Given the description of an element on the screen output the (x, y) to click on. 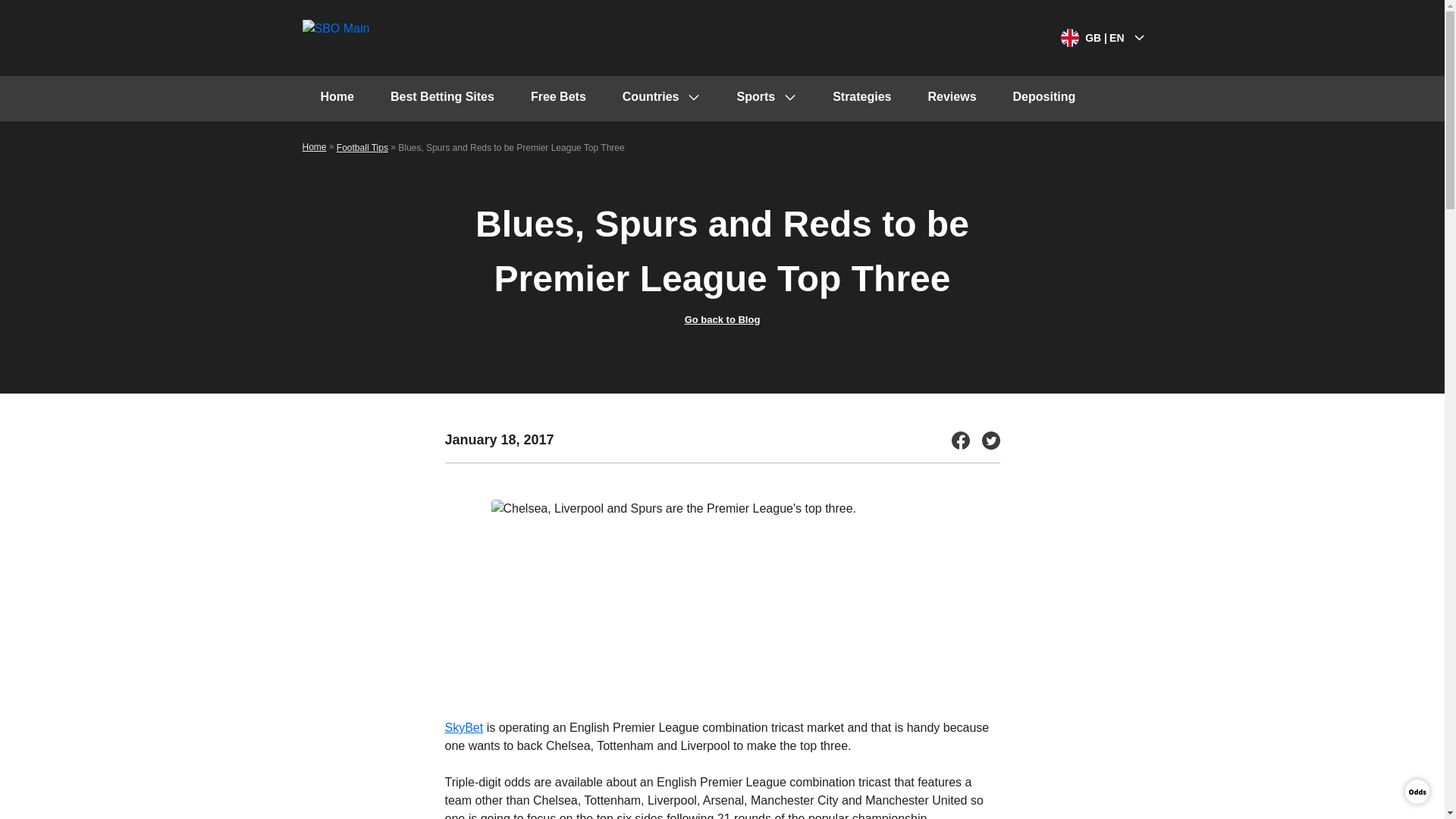
Reviews (952, 98)
Strategies (860, 98)
Best Betting Sites (442, 98)
SkyBet (463, 727)
Home (313, 146)
Free Bets (558, 98)
Go back to Blog (722, 319)
Sports (765, 98)
Depositing (1044, 98)
Home (336, 98)
Countries (661, 98)
Football Tips (362, 147)
